Given the description of an element on the screen output the (x, y) to click on. 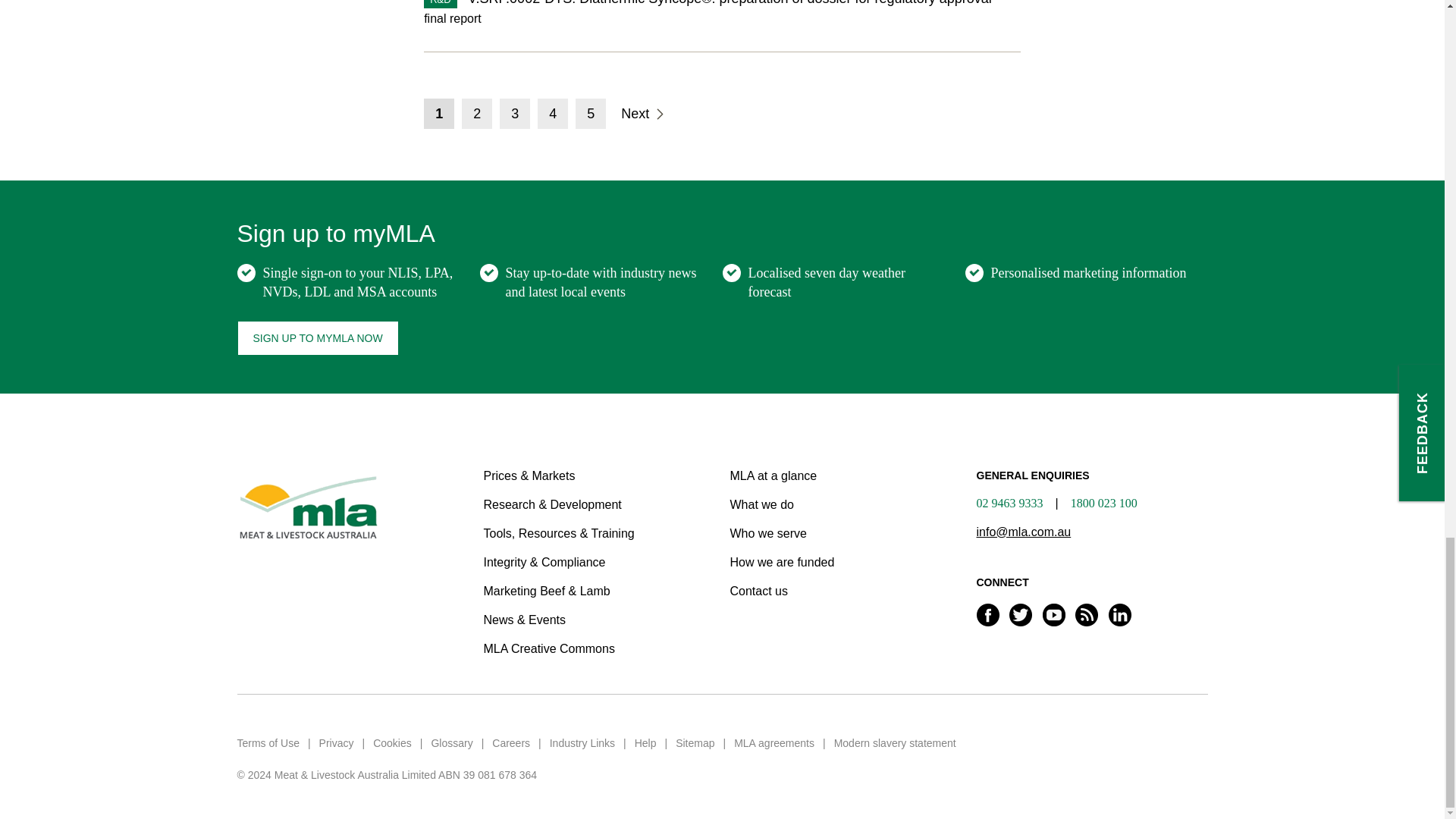
CONNECT (1092, 597)
